Given the description of an element on the screen output the (x, y) to click on. 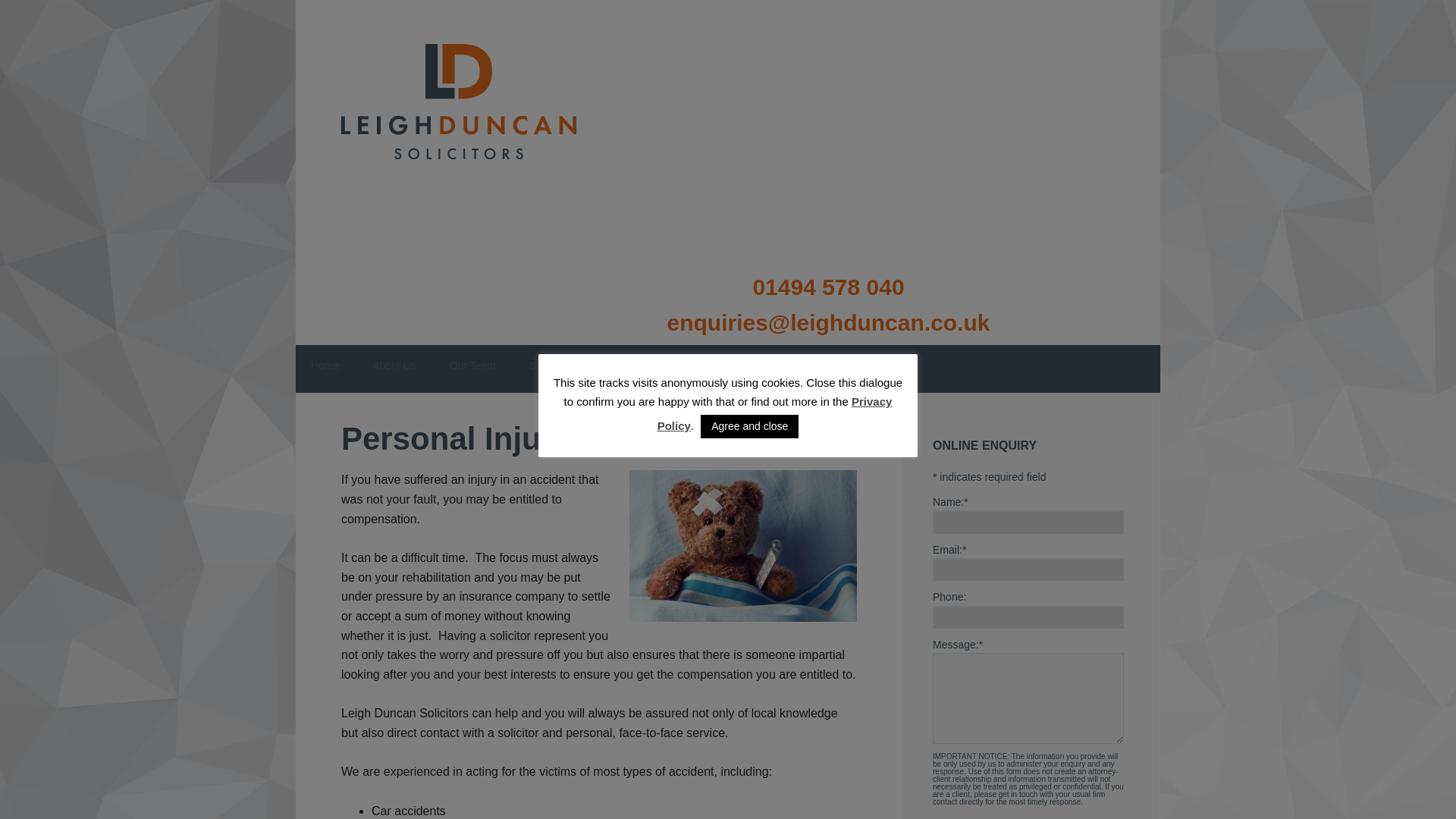
Our Prices (628, 366)
Our Team (472, 366)
About Us (393, 366)
Services (549, 366)
Home (324, 366)
Testimonials (715, 366)
Leigh Duncan LLP (469, 92)
News (790, 366)
Contact Us (863, 366)
